Given the description of an element on the screen output the (x, y) to click on. 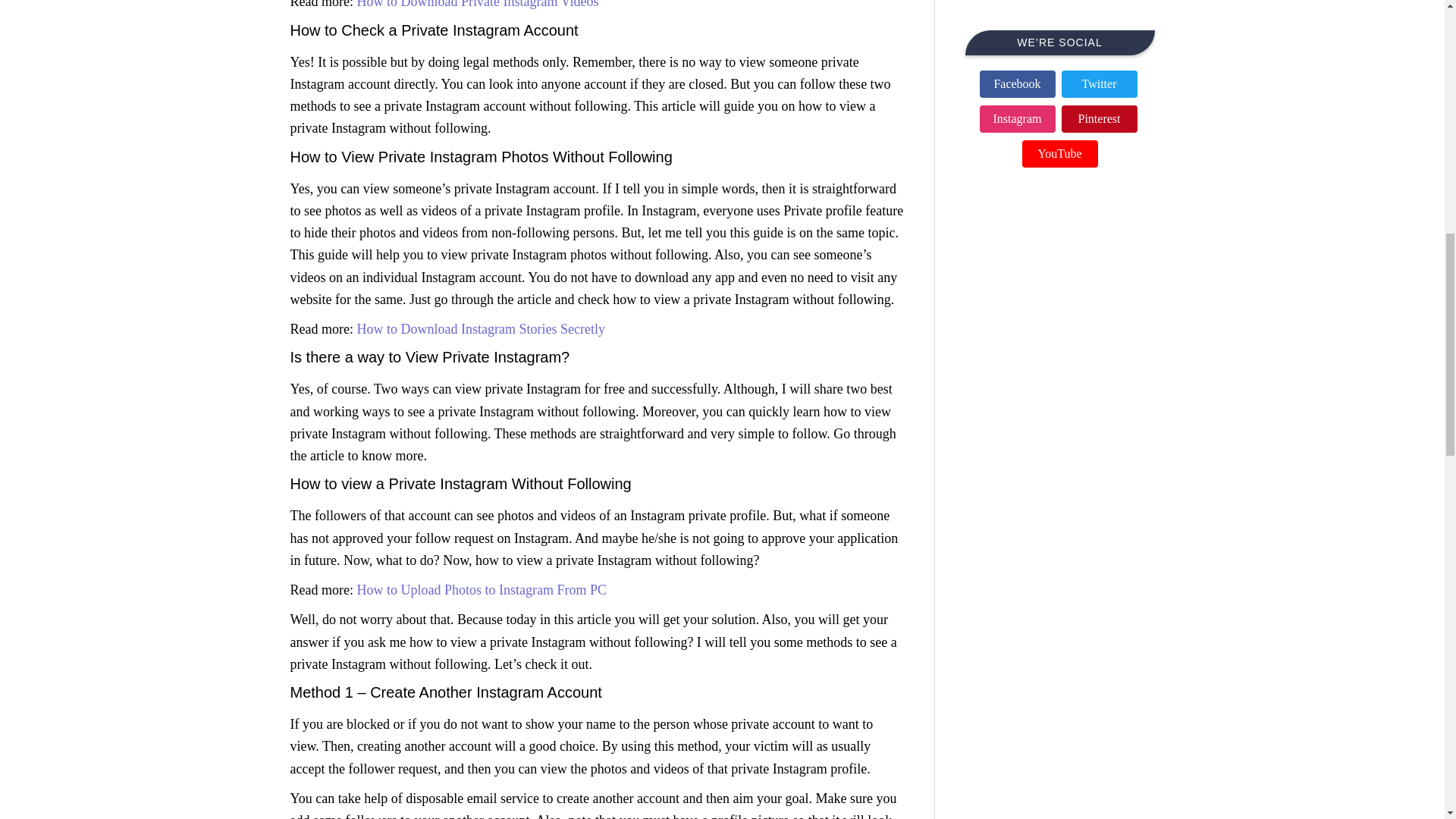
How to Upload Photos to Instagram From PC (481, 589)
How to Download Private Instagram Videos (477, 4)
How to Download Instagram Stories Secretly (480, 328)
